Given the description of an element on the screen output the (x, y) to click on. 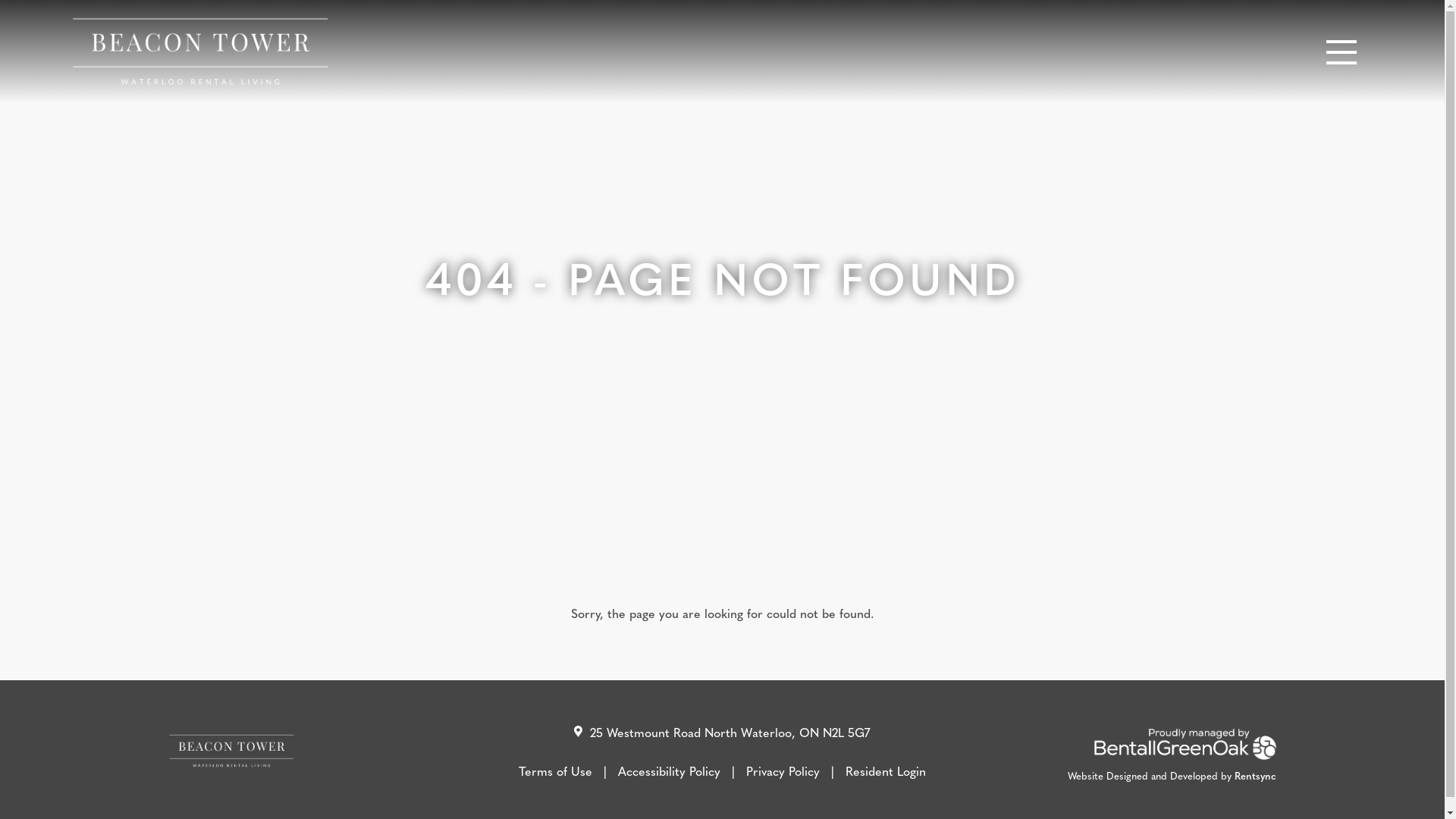
Resident Login Element type: text (885, 770)
Beacon Tower Element type: hover (200, 50)
Accessibility Policy Element type: text (682, 770)
Privacy Policy Element type: text (795, 770)
Website Designed and Developed by Rentsync Element type: text (1171, 775)
Terms of Use Element type: text (568, 770)
